Given the description of an element on the screen output the (x, y) to click on. 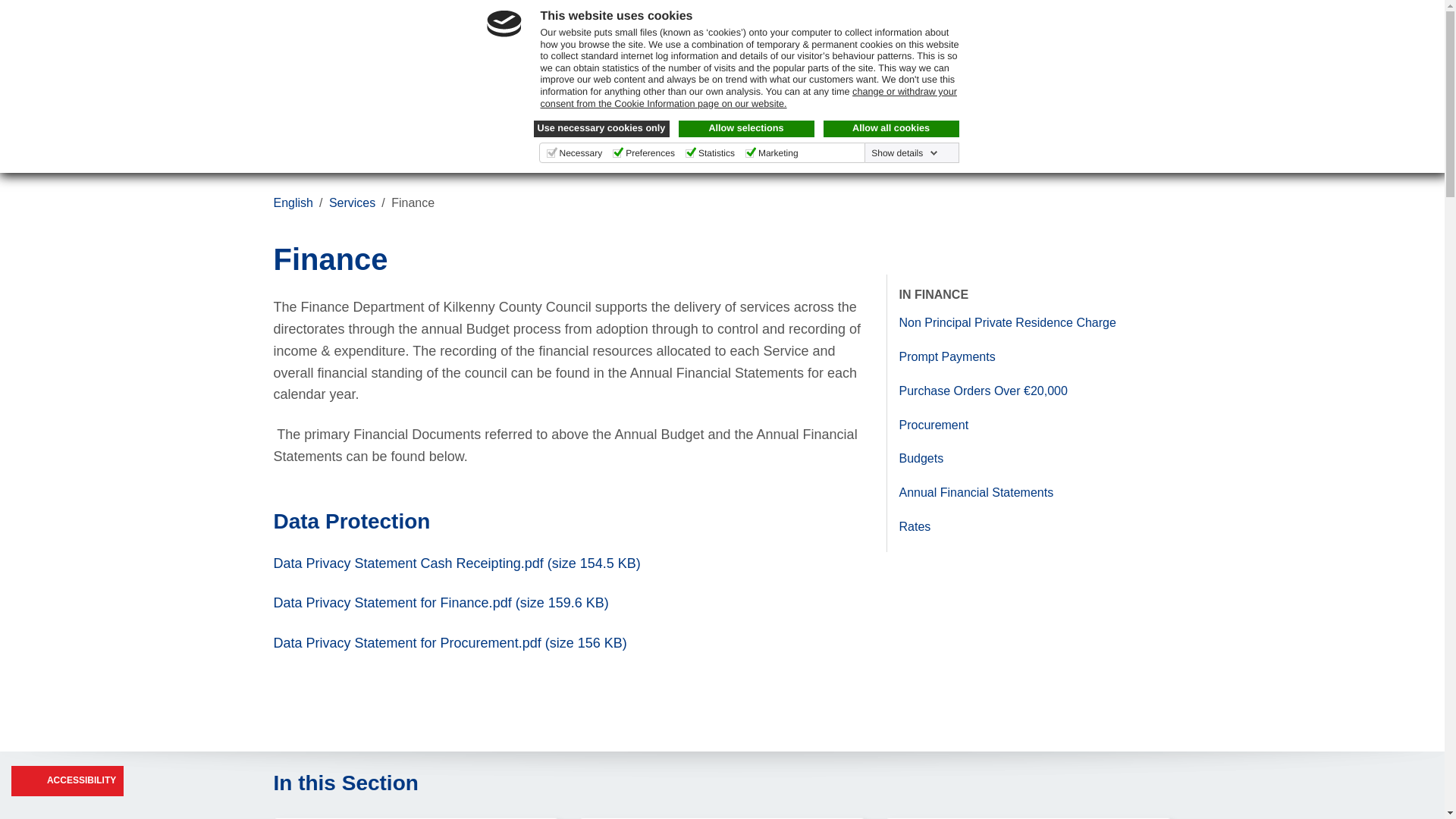
Use necessary cookies only (601, 128)
Allow all cookies (891, 128)
Allow selections (745, 128)
Show details (903, 152)
